Given the description of an element on the screen output the (x, y) to click on. 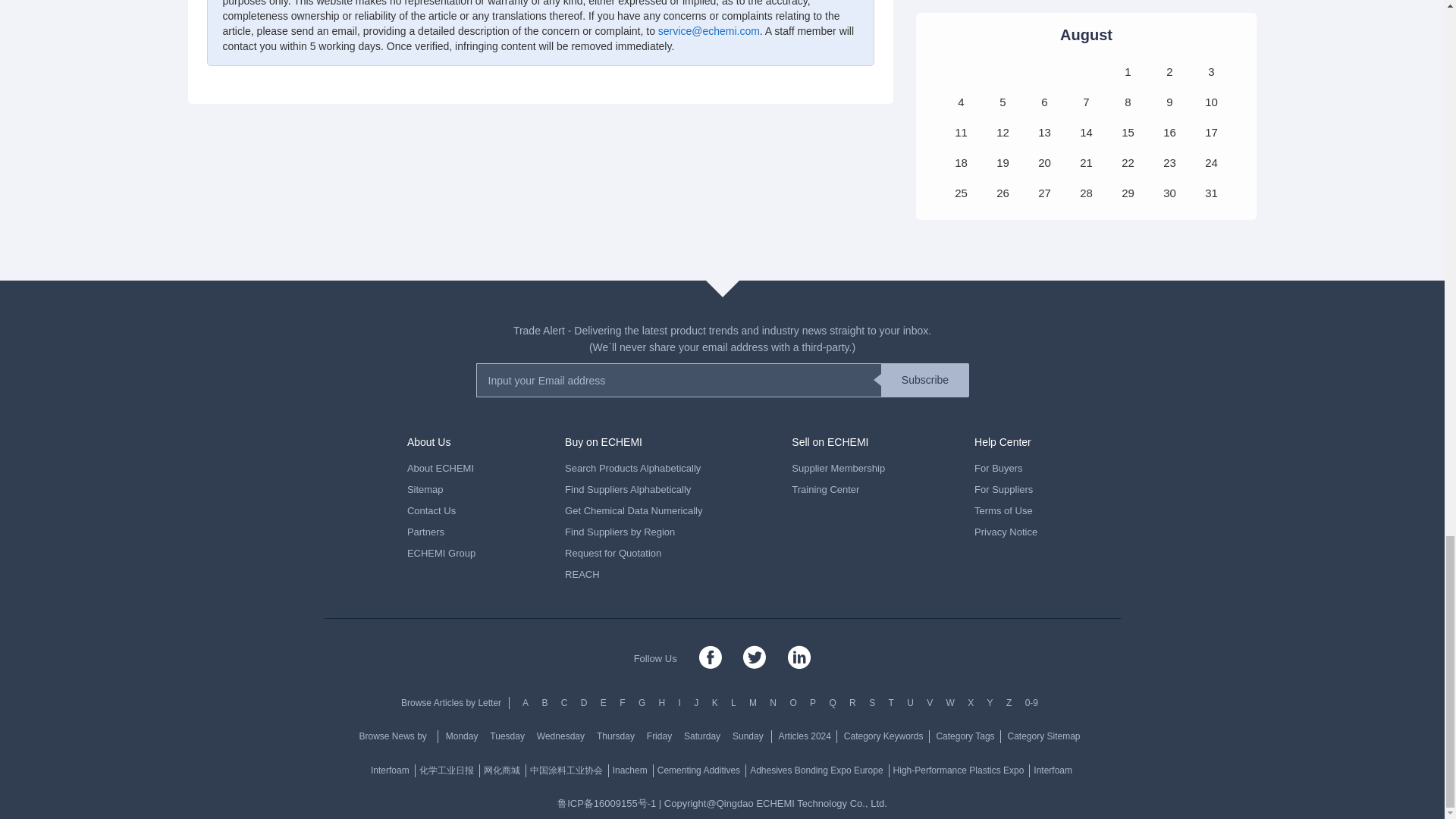
4 August, 2024 (960, 101)
6 August, 2024 (1043, 101)
15 August, 2024 (1127, 132)
12 August, 2024 (1002, 132)
13 August, 2024 (1043, 132)
11 August, 2024 (960, 132)
19 August, 2024 (1002, 162)
18 August, 2024 (960, 162)
1 August, 2024 (1127, 71)
9 August, 2024 (1168, 101)
